Given the description of an element on the screen output the (x, y) to click on. 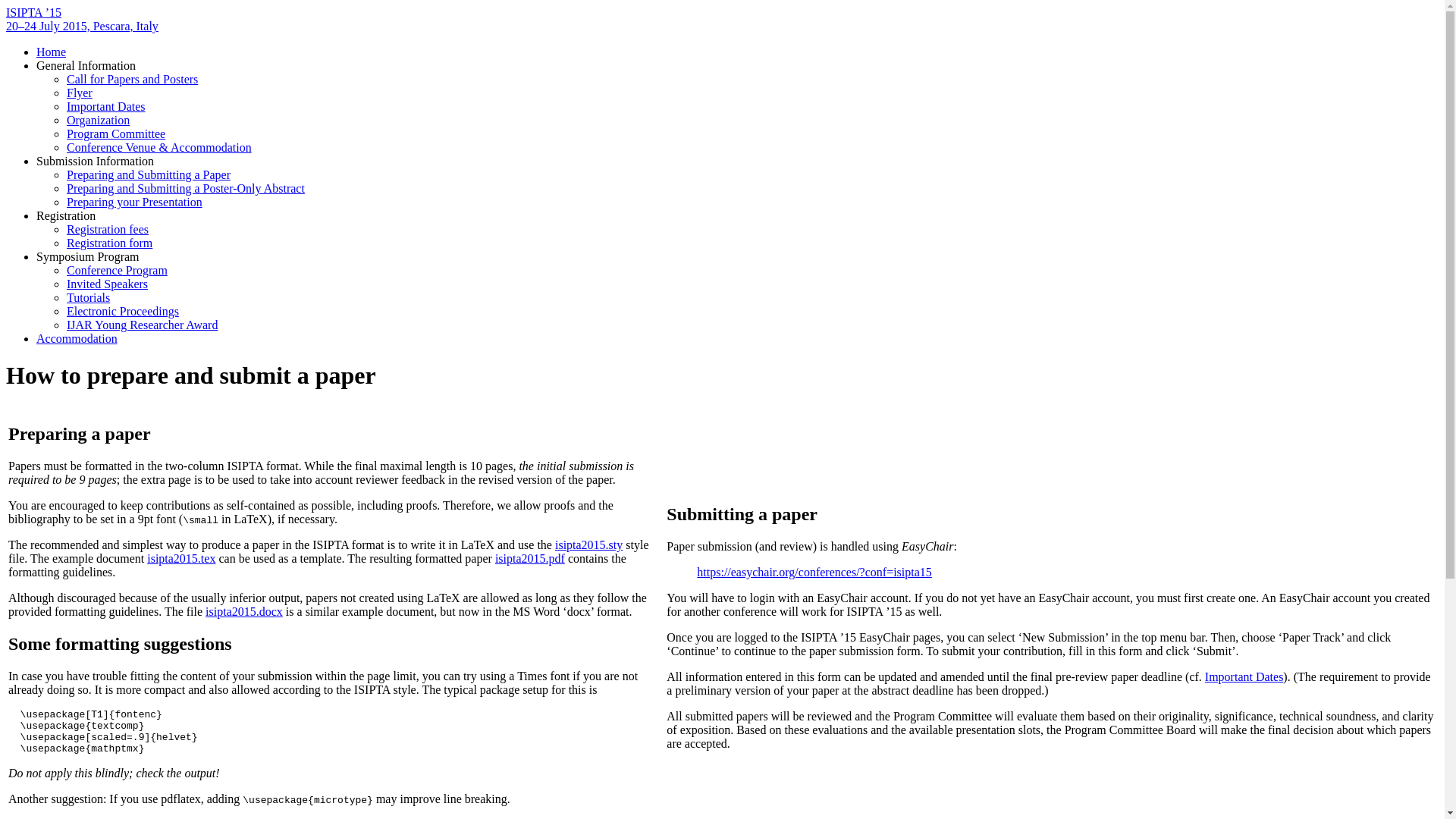
Important Dates (1244, 676)
isipta2015.pdf (529, 558)
isipta2015.sty (588, 544)
Accommodation (76, 338)
Preparing and Submitting a Paper (148, 174)
IJAR Young Researcher Award (141, 324)
Preparing your Presentation (134, 201)
Tutorials (88, 297)
Invited Speakers (107, 283)
Submission Information (95, 160)
